Given the description of an element on the screen output the (x, y) to click on. 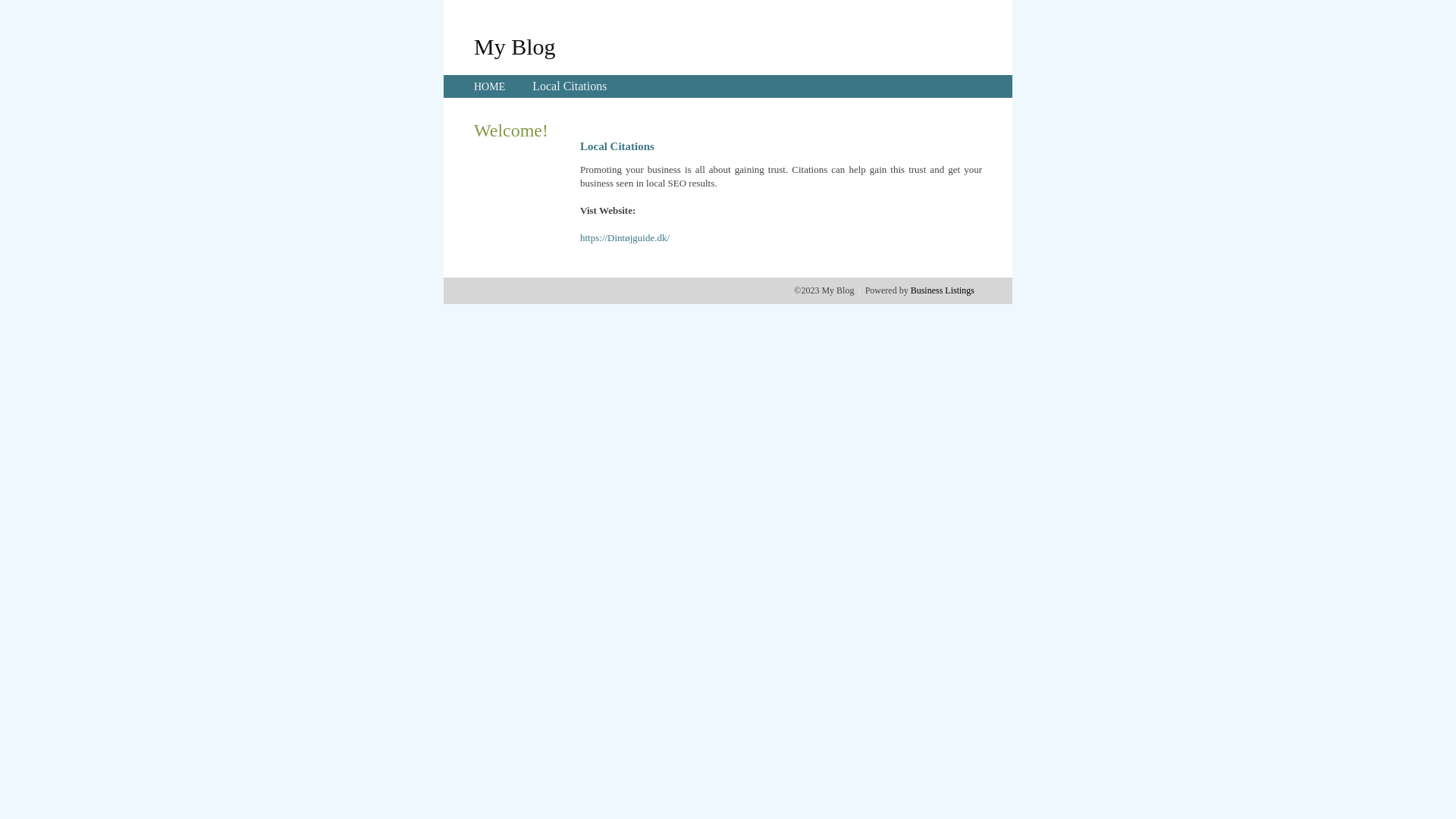
My Blog Element type: text (514, 46)
HOME Element type: text (489, 86)
Business Listings Element type: text (942, 290)
Local Citations Element type: text (569, 85)
